Given the description of an element on the screen output the (x, y) to click on. 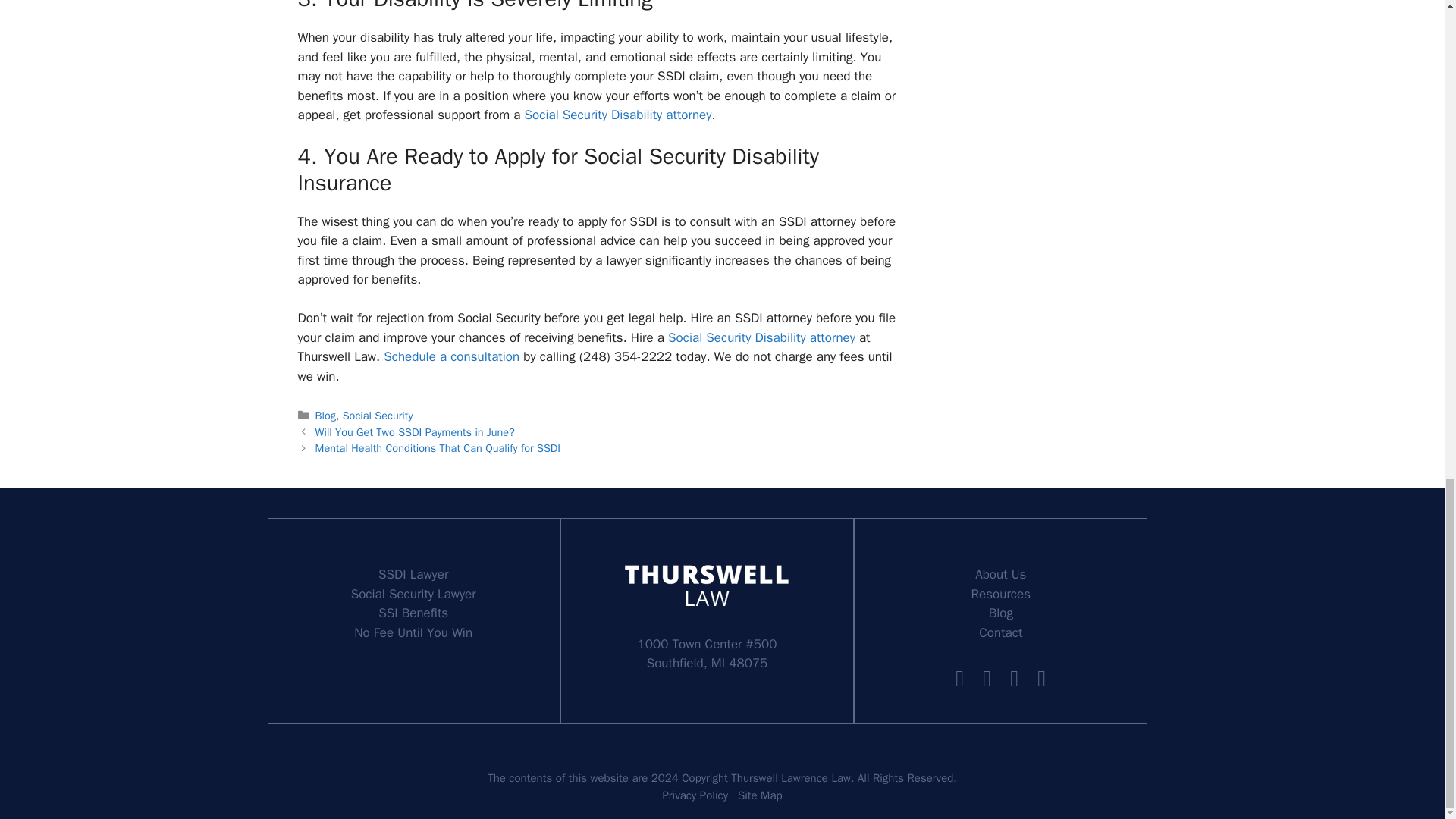
No Fee Until You Win (412, 632)
Blog (1000, 612)
Resources (1000, 593)
Previous (415, 431)
About Us (1000, 574)
Social Security Lawyer (413, 593)
SSI Benefits (413, 612)
Blog (325, 415)
LinkedIn (1014, 678)
Facebook (960, 678)
Social Security Disability attorney (762, 337)
Next (437, 448)
Schedule a consultation (451, 356)
Twitter (987, 678)
Social Security Disability attorney (617, 114)
